Given the description of an element on the screen output the (x, y) to click on. 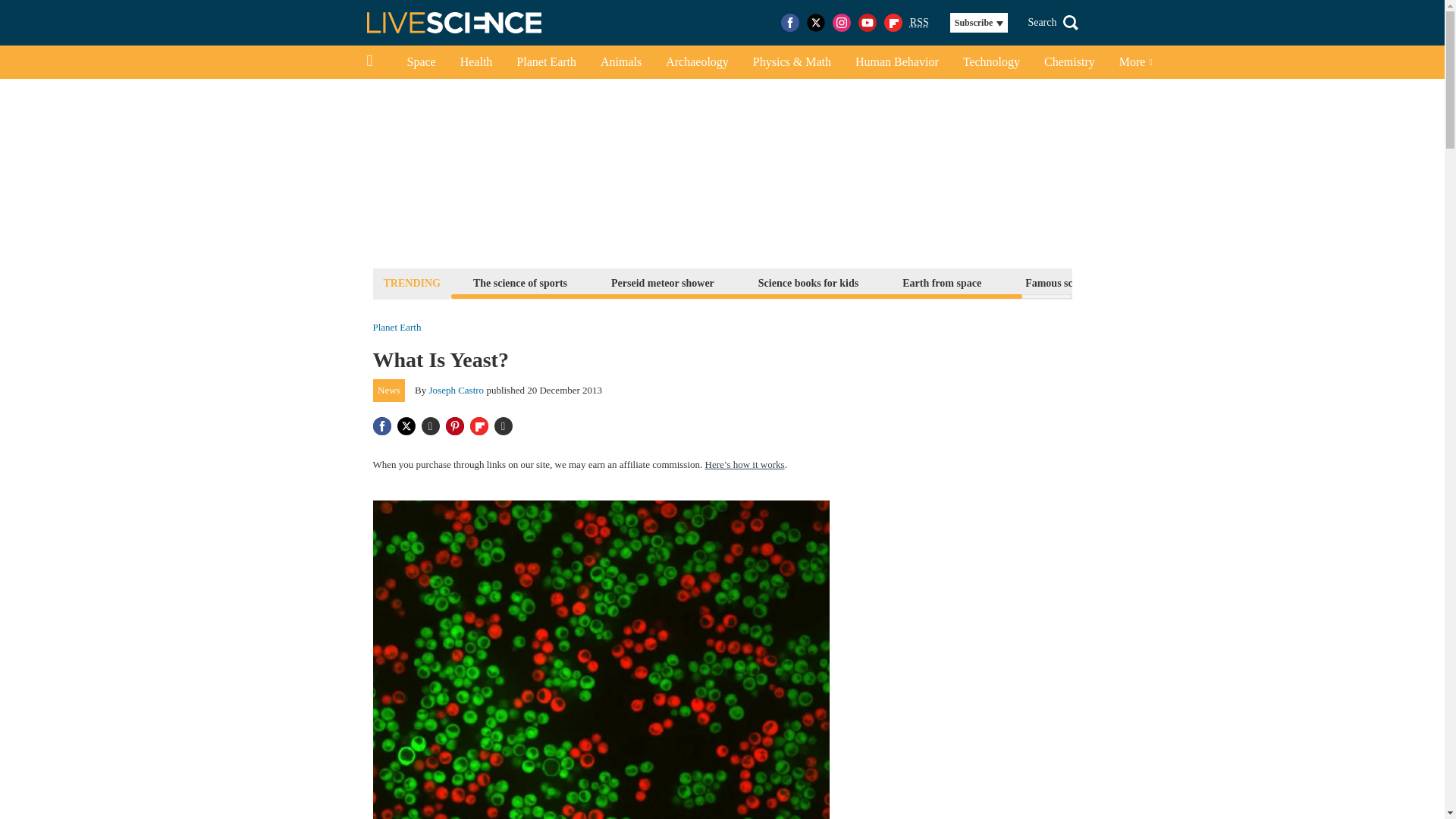
Human Behavior (896, 61)
Space (420, 61)
RSS (919, 22)
News (389, 390)
The science of sports (519, 282)
Archaeology (697, 61)
Science books for kids (807, 282)
Animals (620, 61)
Planet Earth (545, 61)
Perseid meteor shower (662, 282)
Technology (991, 61)
Planet Earth (397, 327)
Earth from space (941, 282)
Famous scientists (1064, 282)
Joseph Castro (456, 389)
